Given the description of an element on the screen output the (x, y) to click on. 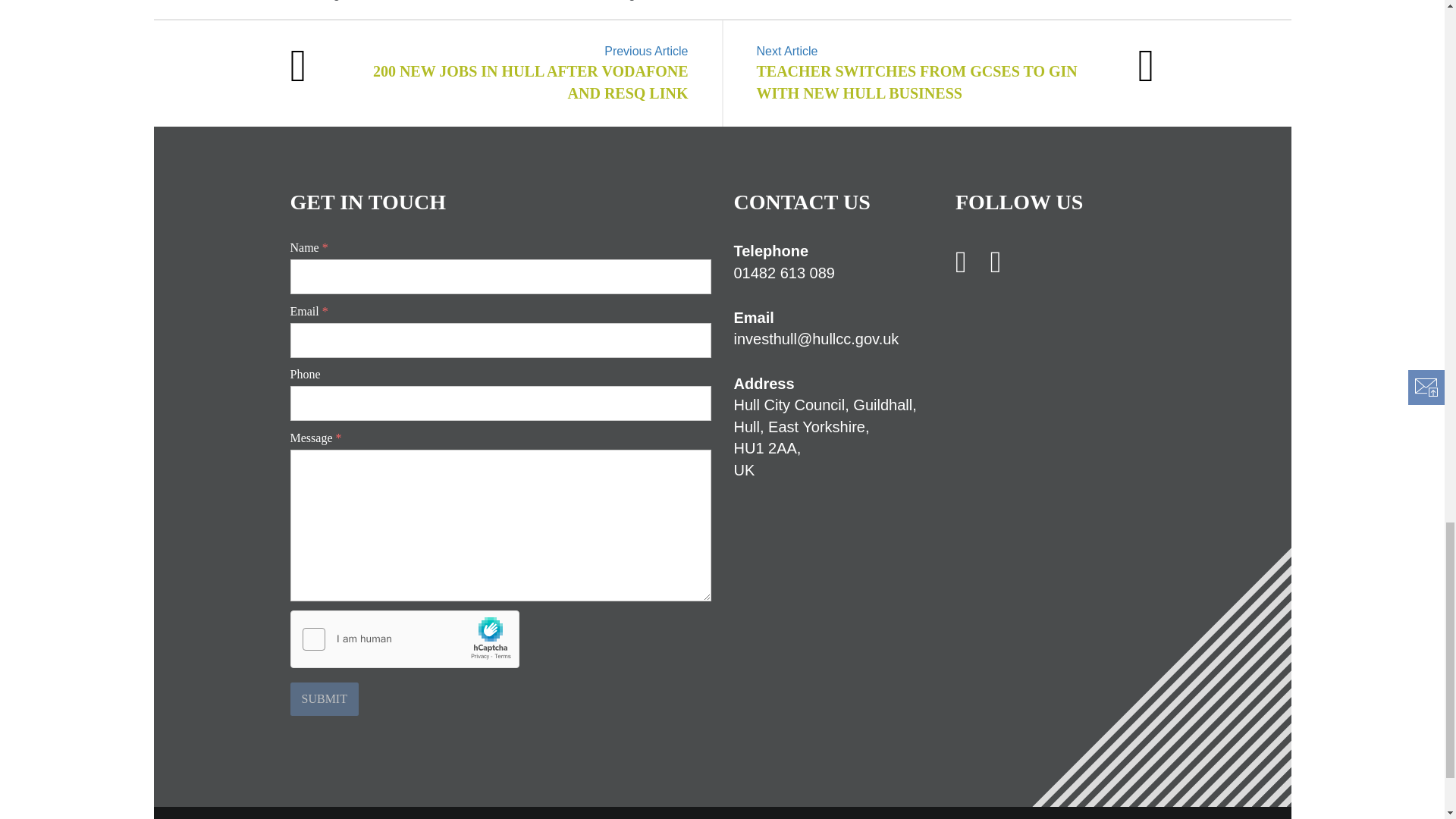
Widget containing checkbox for hCaptcha security challenge (404, 639)
SUBMIT (323, 698)
